Given the description of an element on the screen output the (x, y) to click on. 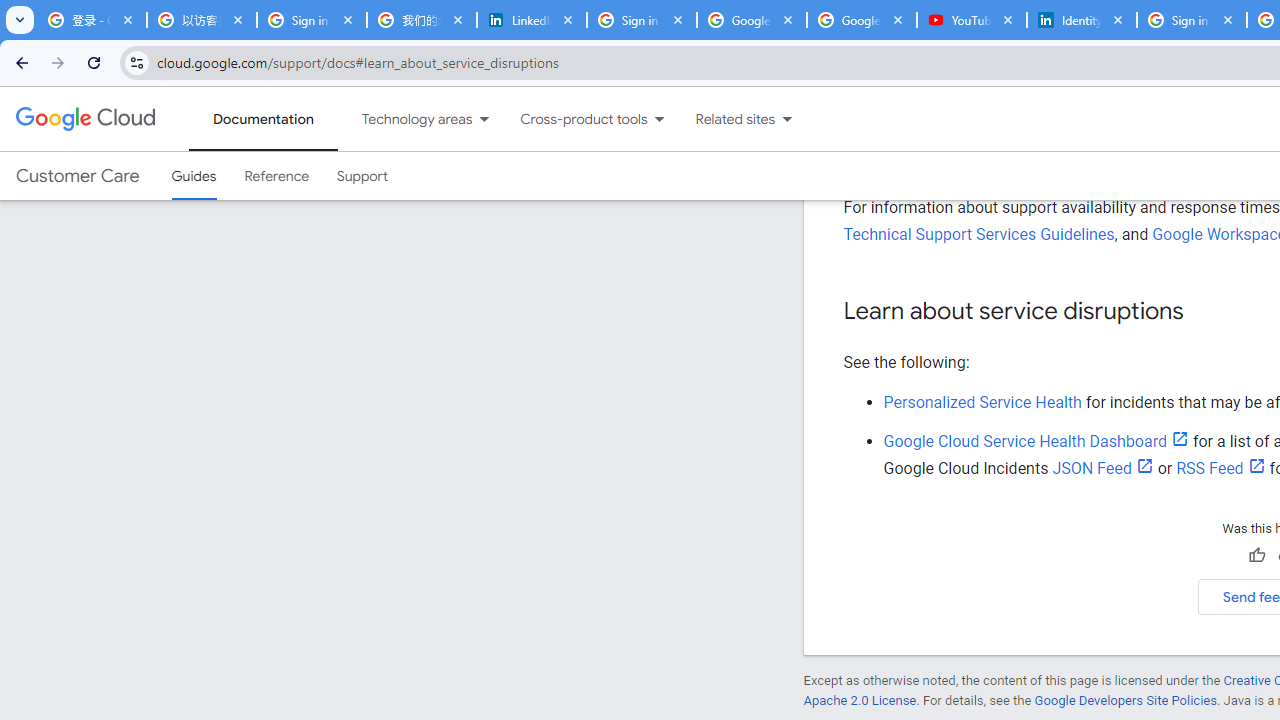
Sign in - Google Accounts (642, 20)
JSON Feed (1103, 468)
Reference (276, 175)
Dropdown menu for Technology areas (484, 119)
Related sites (722, 119)
